Given the description of an element on the screen output the (x, y) to click on. 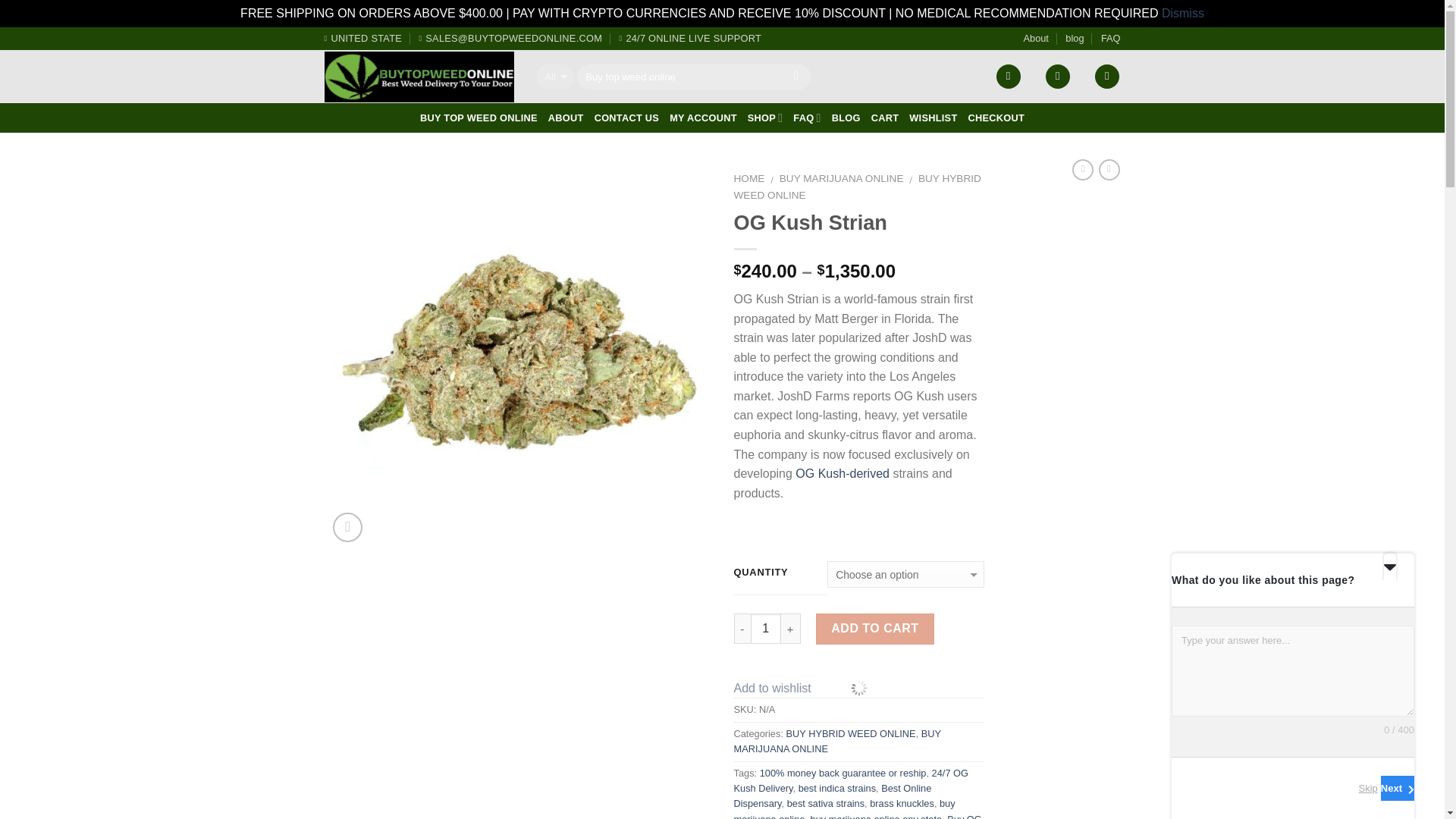
blog (1074, 38)
- (742, 628)
BUY TOP WEED ONLINE (478, 118)
Qty (765, 628)
UNITED STATE (363, 38)
MY ACCOUNT (702, 118)
CONTACT US (626, 118)
ABOUT (565, 118)
Dismiss (1182, 12)
SHOP (765, 117)
1 (765, 628)
About (1035, 38)
FAQ (1110, 38)
